Given the description of an element on the screen output the (x, y) to click on. 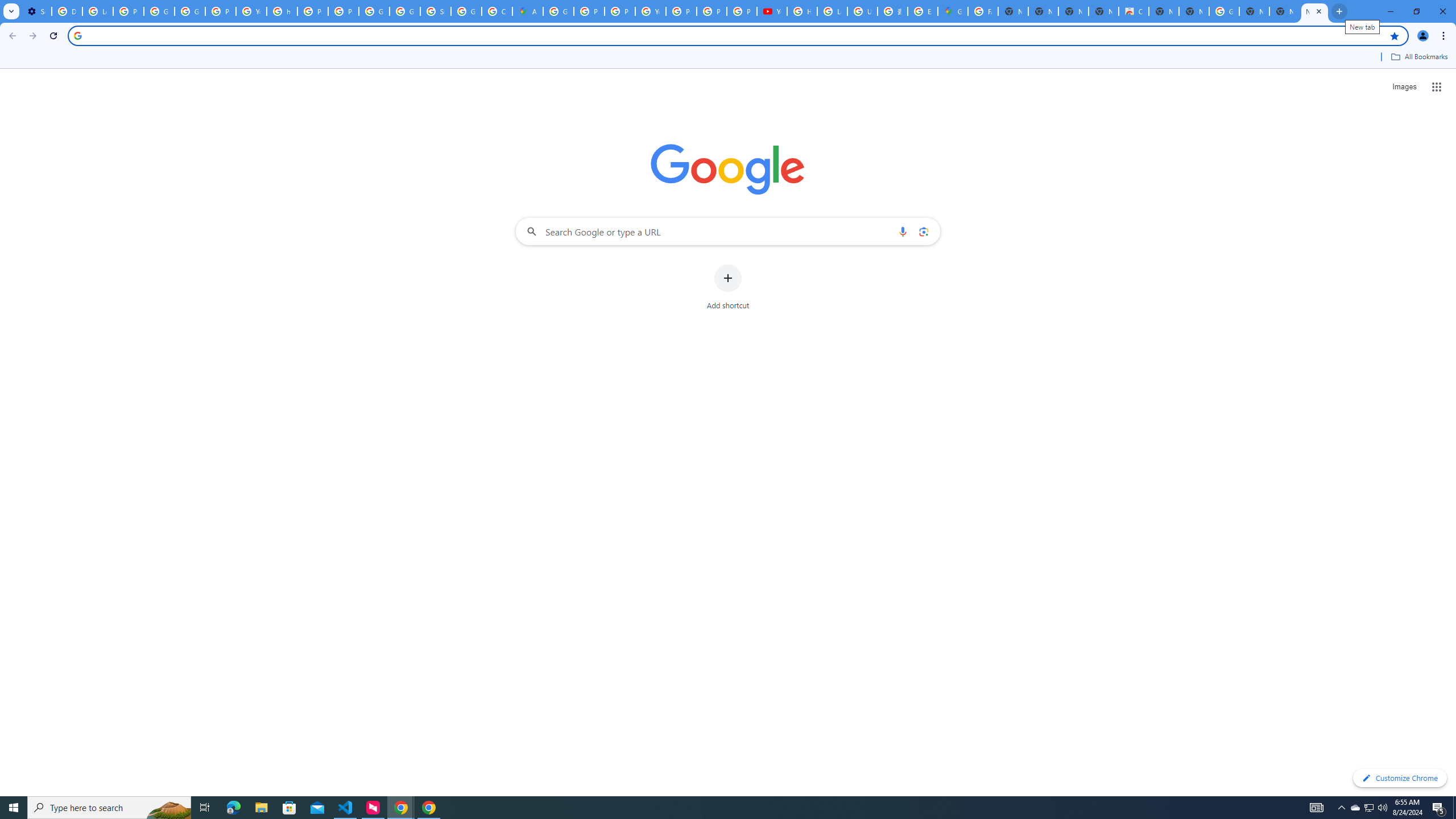
System (6, 6)
Create your Google Account (496, 11)
Restore (1416, 11)
YouTube (650, 11)
Privacy Checkup (711, 11)
Search for Images  (1403, 87)
You (1422, 35)
Forward (32, 35)
Chrome (1445, 35)
Sign in - Google Accounts (434, 11)
Reload (52, 35)
